Given the description of an element on the screen output the (x, y) to click on. 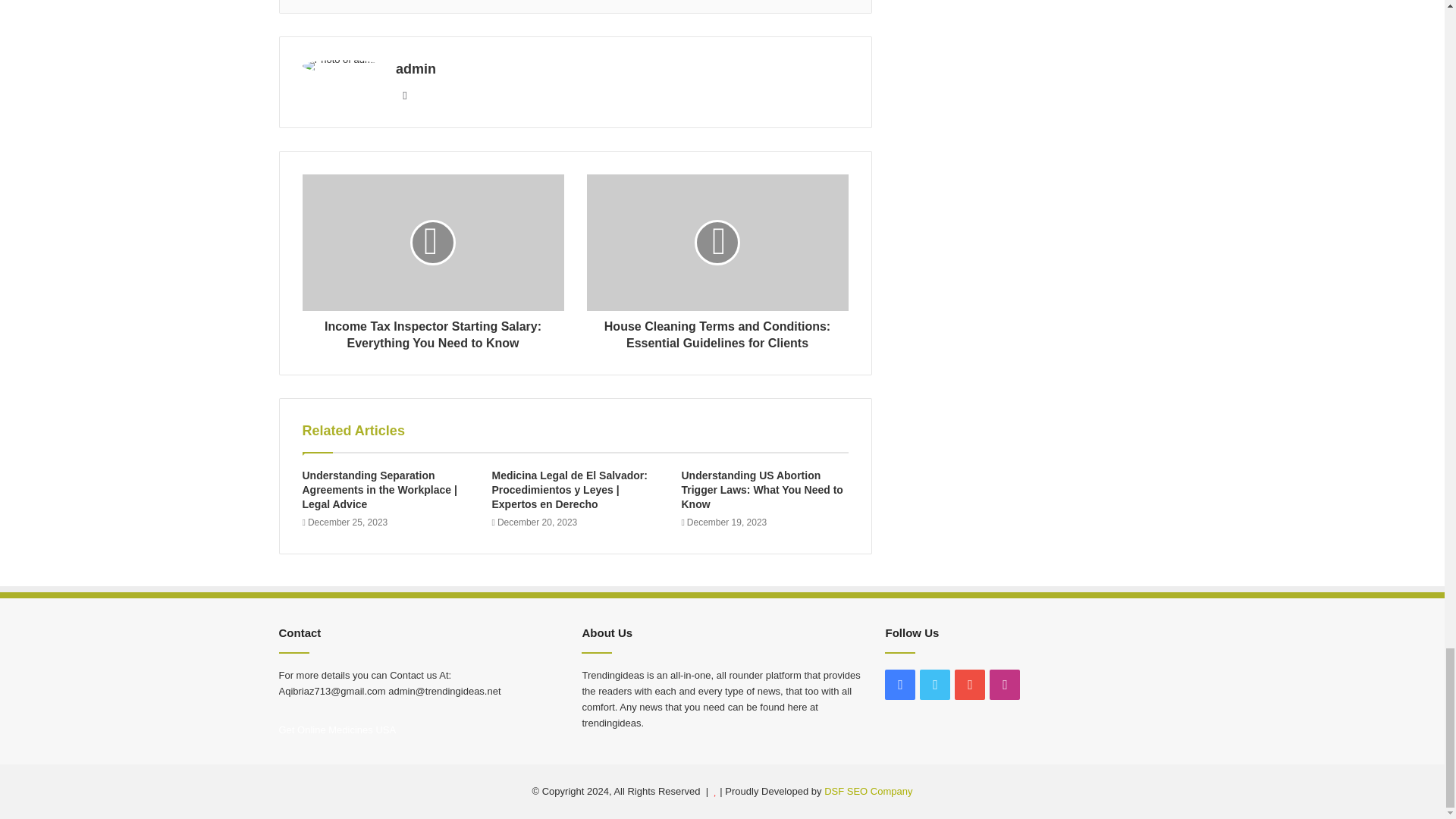
admin (415, 68)
Website (404, 95)
